Given the description of an element on the screen output the (x, y) to click on. 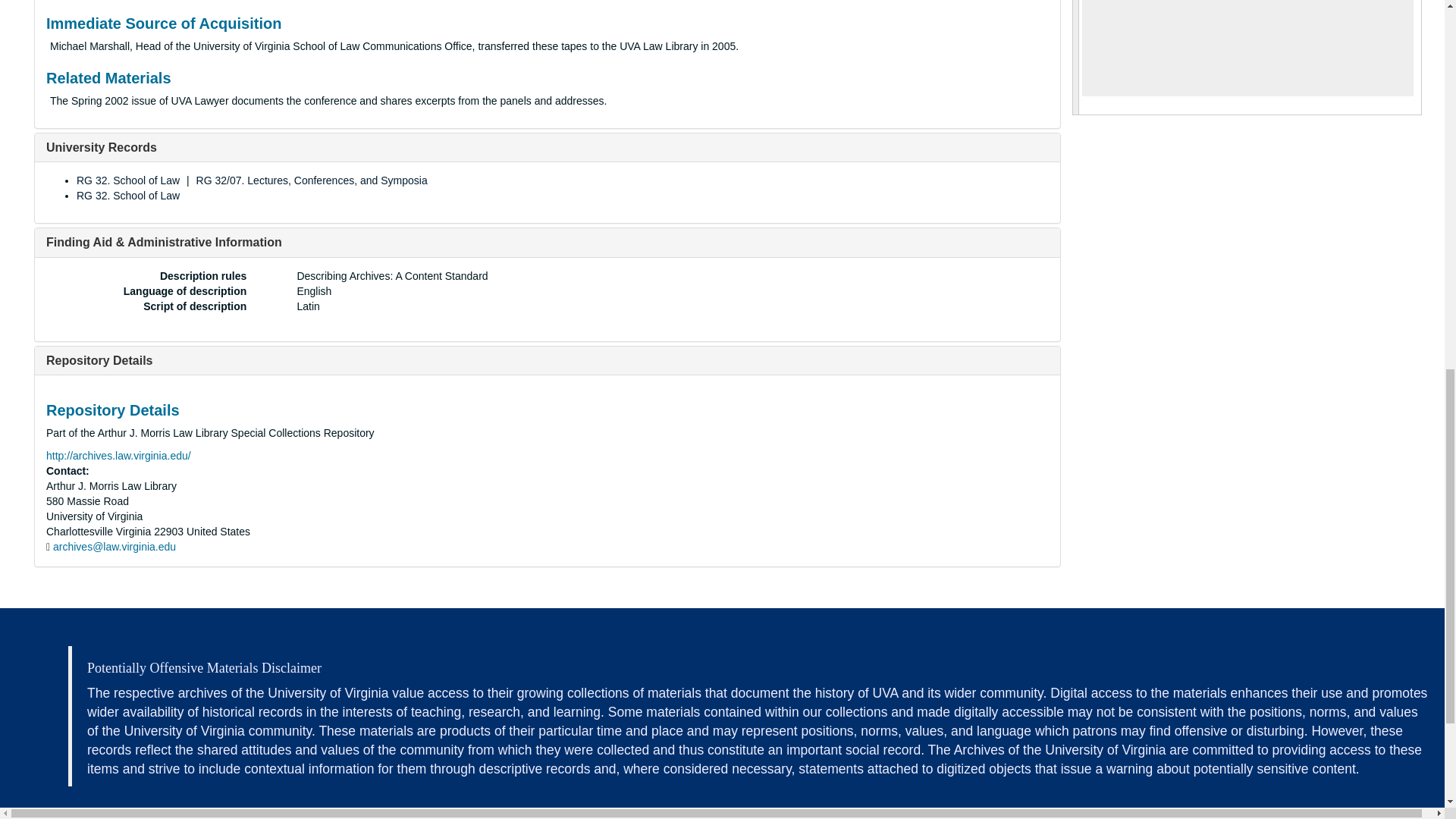
RG 32. School of Law (128, 180)
RG 32. School of Law (128, 195)
Repository Details (99, 359)
University Records (101, 146)
Send email (114, 546)
